Given the description of an element on the screen output the (x, y) to click on. 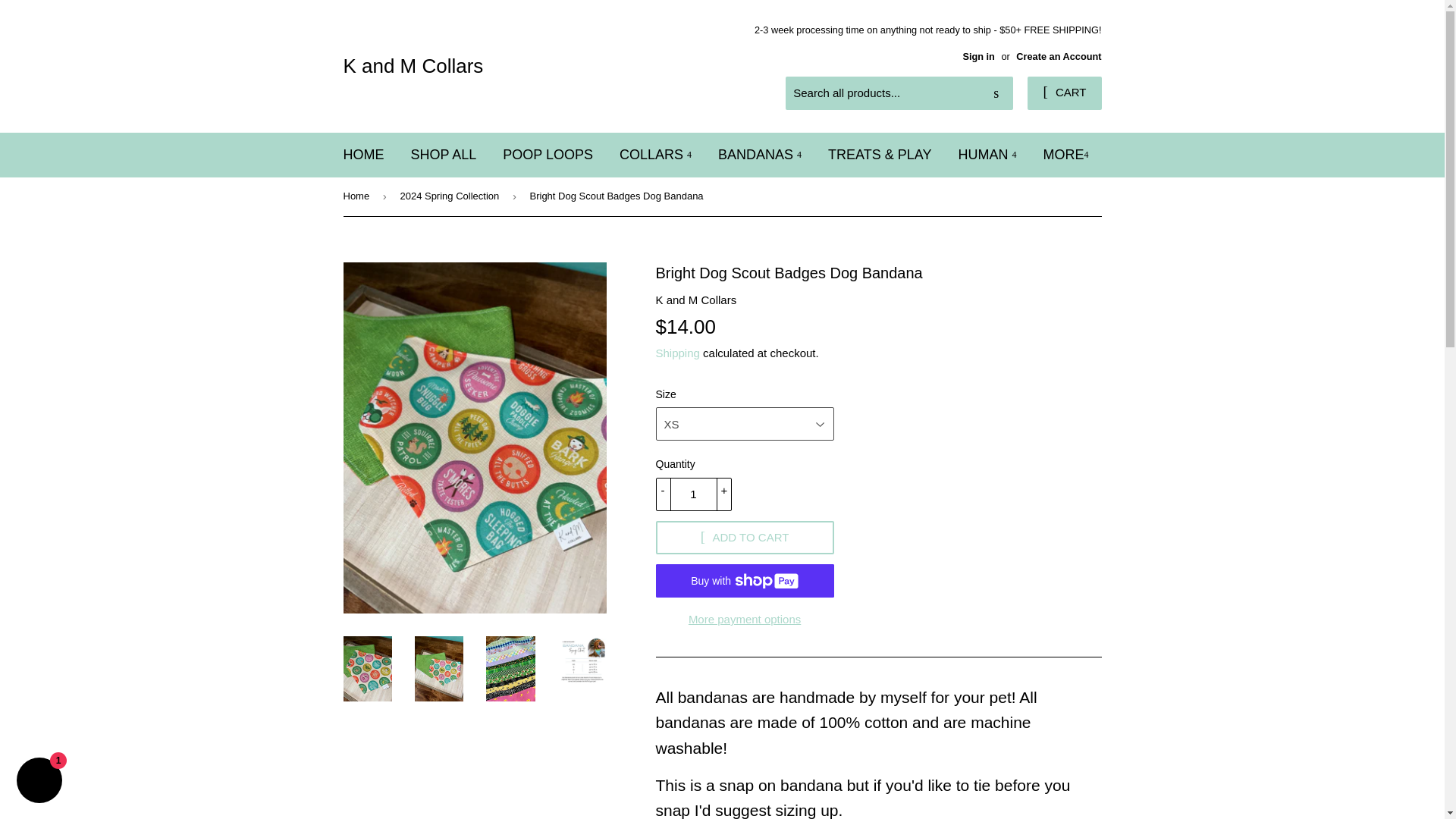
Search (995, 93)
K and M Collars (532, 65)
Shopify online store chat (38, 781)
Sign in (978, 56)
Create an Account (1058, 56)
1 (692, 494)
CART (1063, 92)
